Given the description of an element on the screen output the (x, y) to click on. 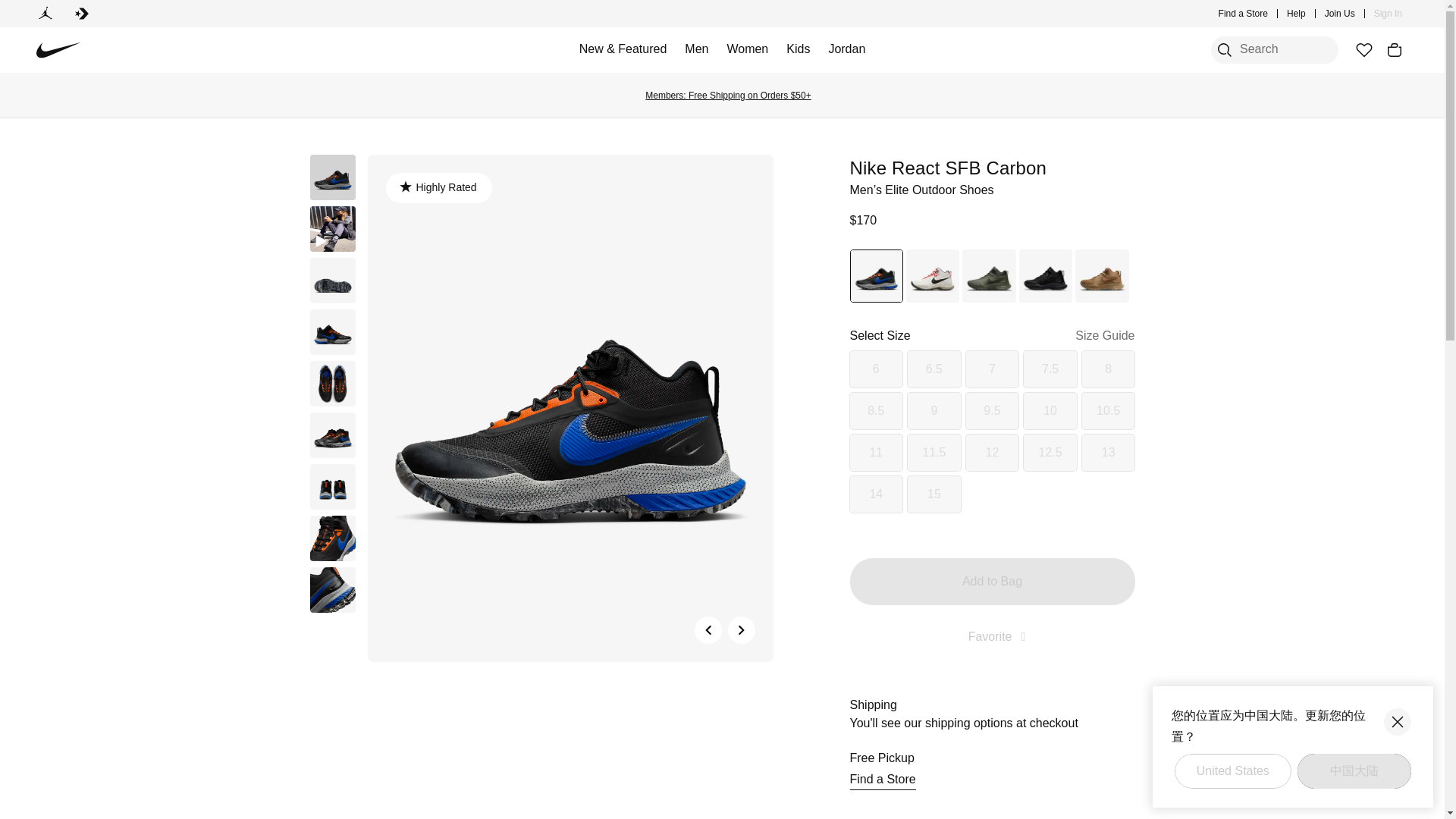
Help (1296, 13)
Bag Items: 0 (1393, 49)
Join Us (1339, 13)
